Given the description of an element on the screen output the (x, y) to click on. 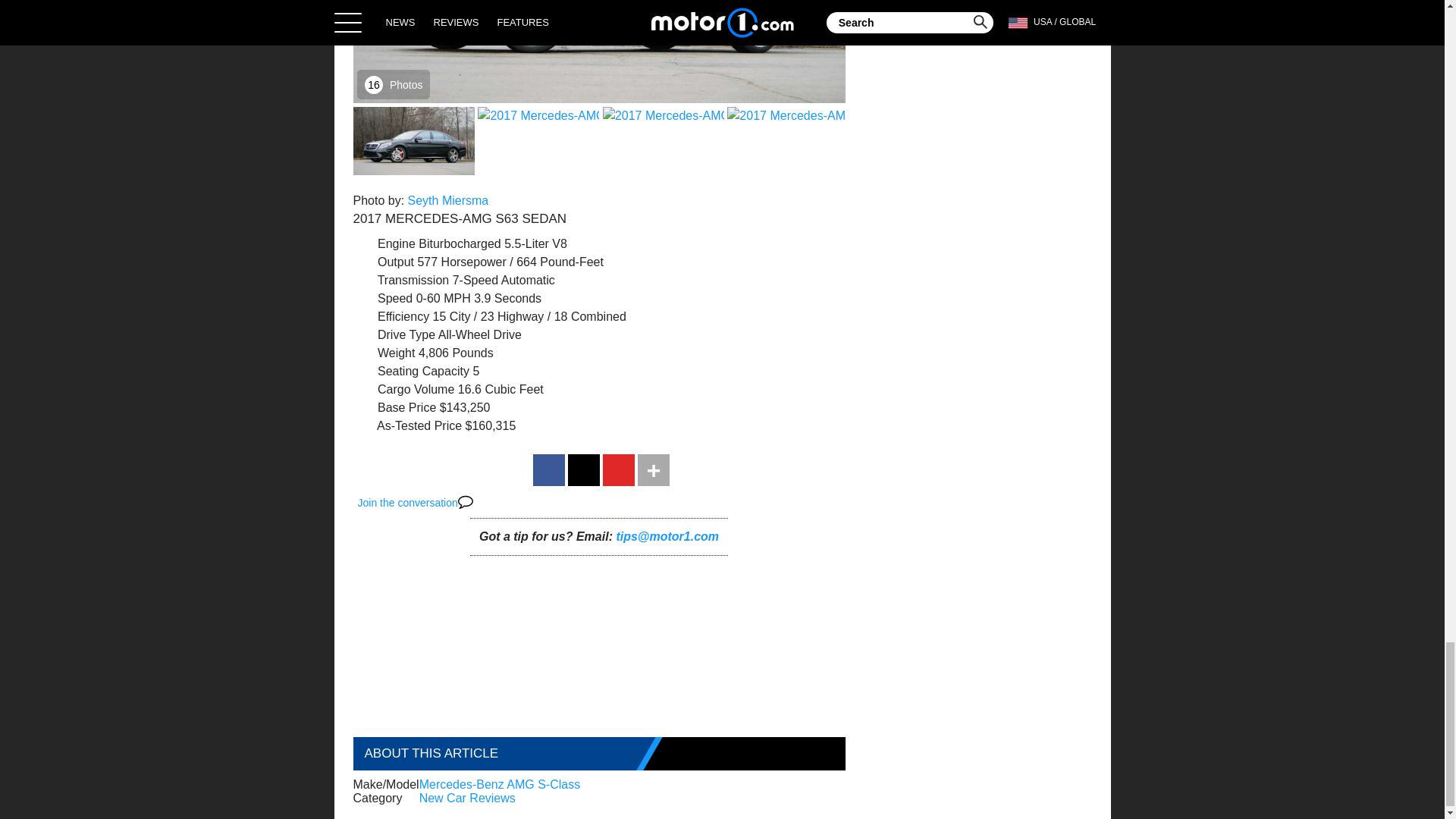
Output (385, 256)
Cargo Volume (405, 383)
Seyth Miersma (448, 195)
As-Tested Price (409, 420)
Seating Capacity (413, 365)
Speed 0-60 MPH (413, 292)
Weight (386, 347)
Base Price (396, 401)
Drive Type (395, 328)
Transmission (402, 274)
